Given the description of an element on the screen output the (x, y) to click on. 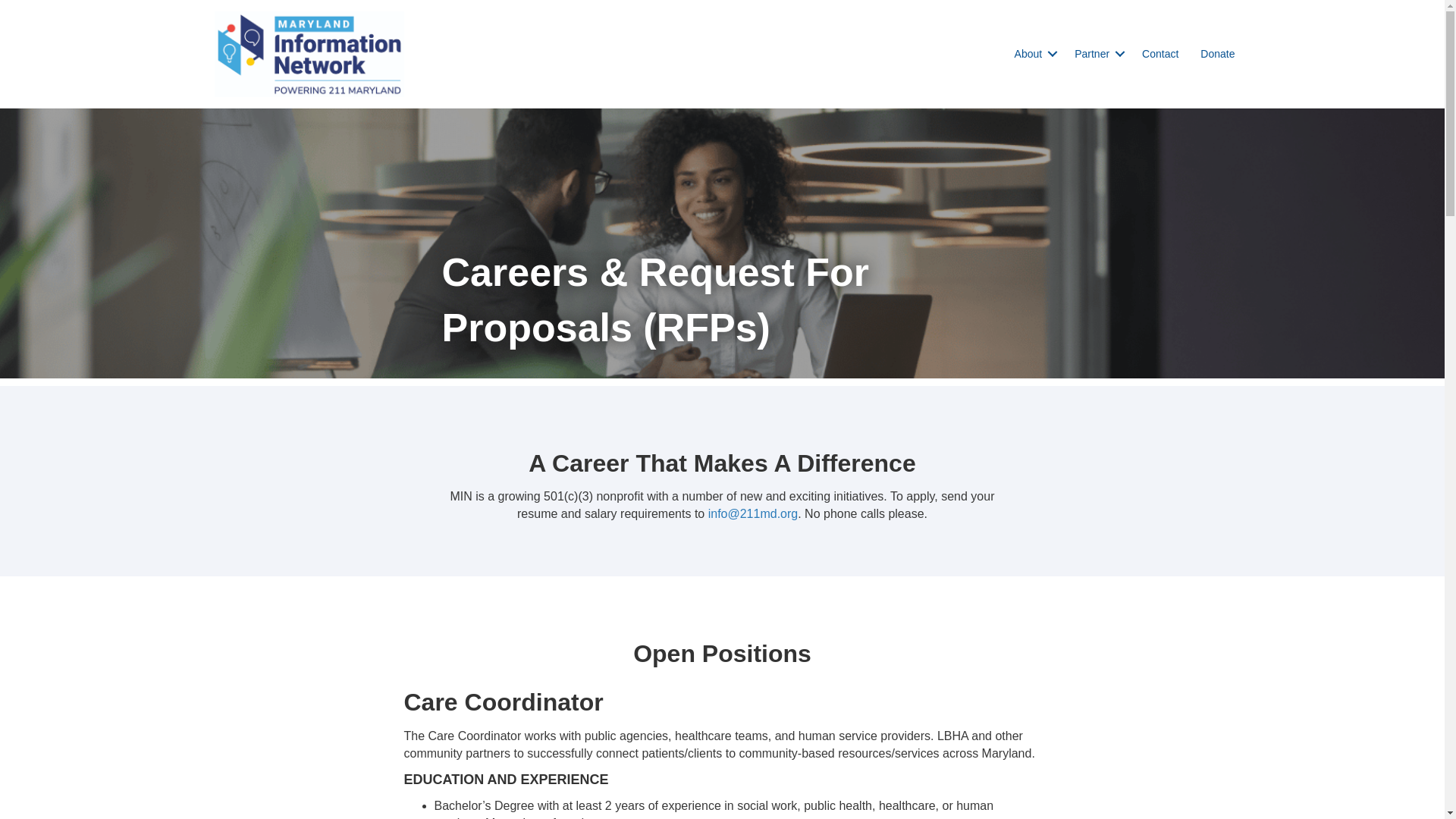
About (1034, 53)
Donate (1216, 53)
Partner (1097, 53)
Contact (1160, 53)
